Given the description of an element on the screen output the (x, y) to click on. 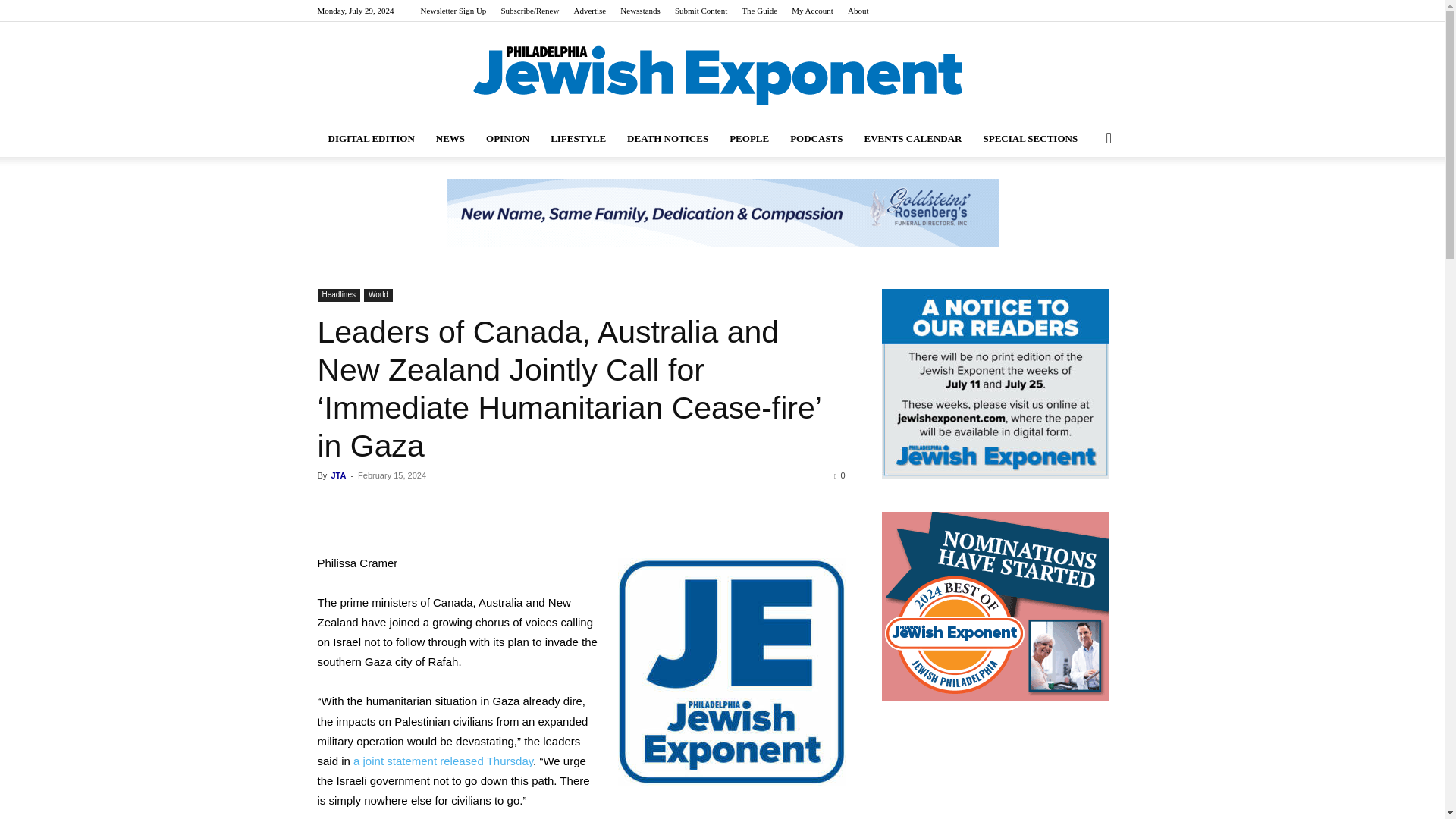
Newsletter Sign Up (453, 10)
